Given the description of an element on the screen output the (x, y) to click on. 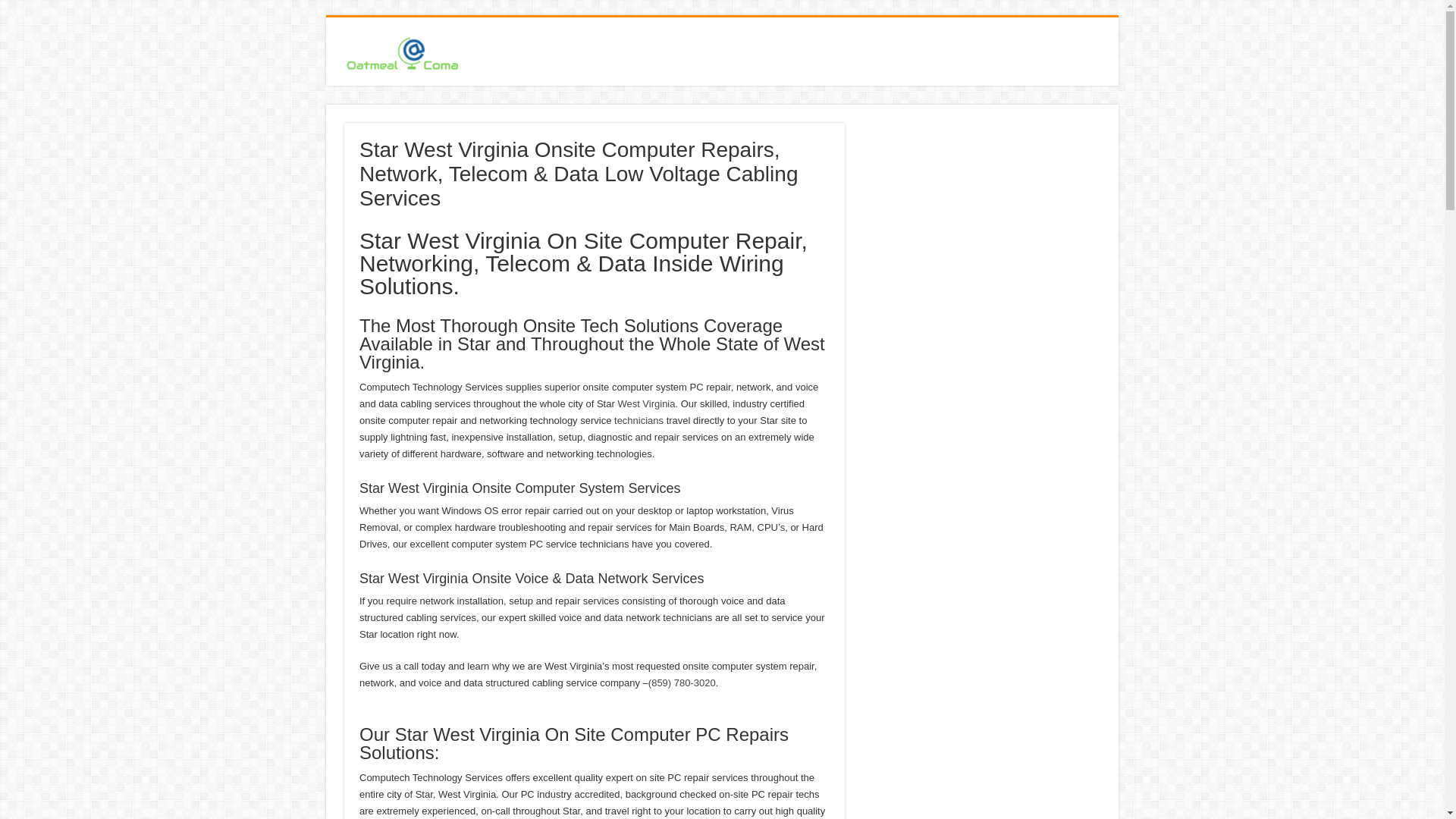
West Virginia (646, 403)
technicians (638, 419)
Oatmeal Coma (403, 50)
